Given the description of an element on the screen output the (x, y) to click on. 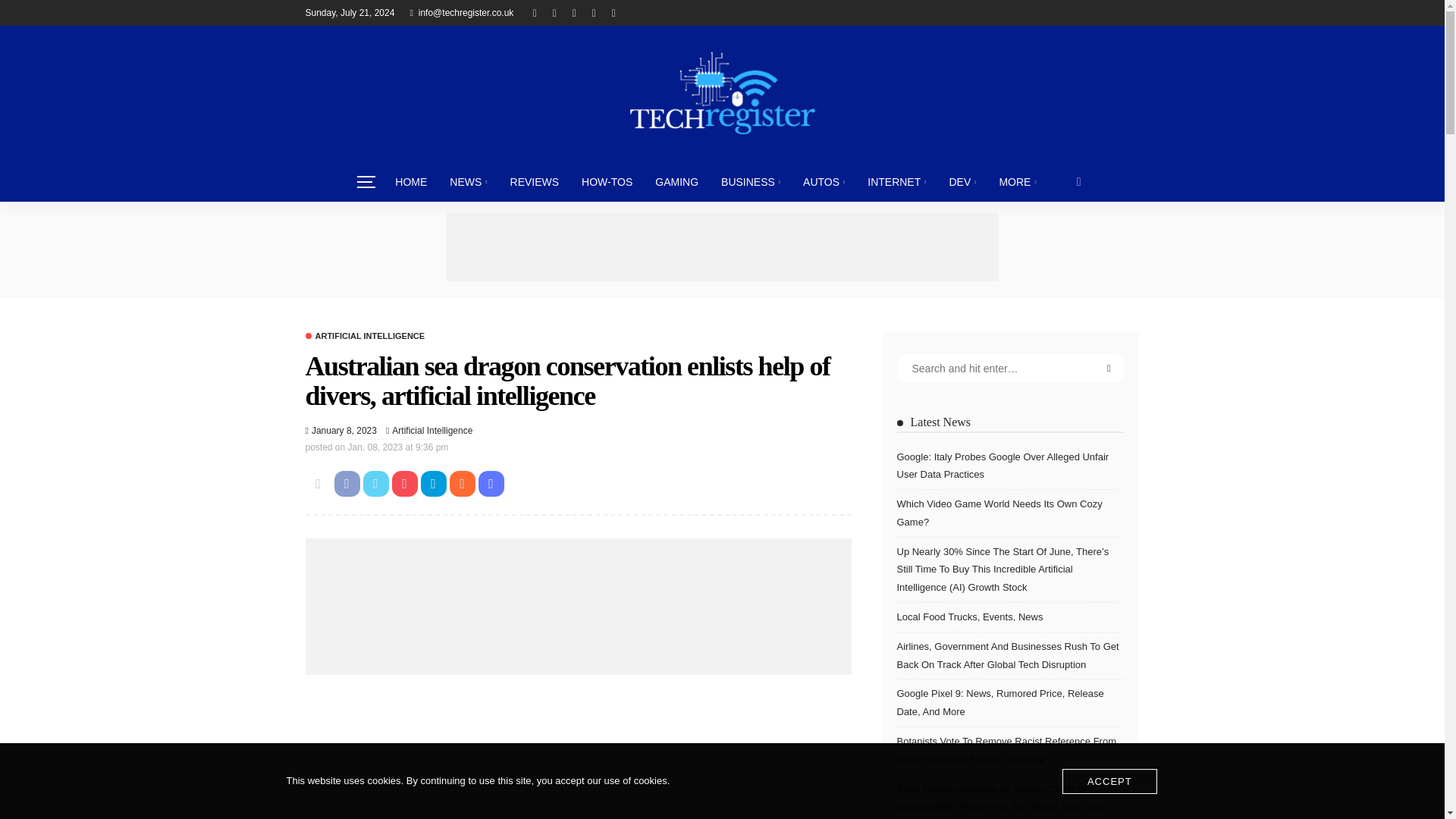
search (1079, 181)
Artificial Intelligence (364, 336)
Techregister (721, 93)
Advertisement (577, 754)
Artificial Intelligence (431, 430)
Advertisement (721, 246)
